Given the description of an element on the screen output the (x, y) to click on. 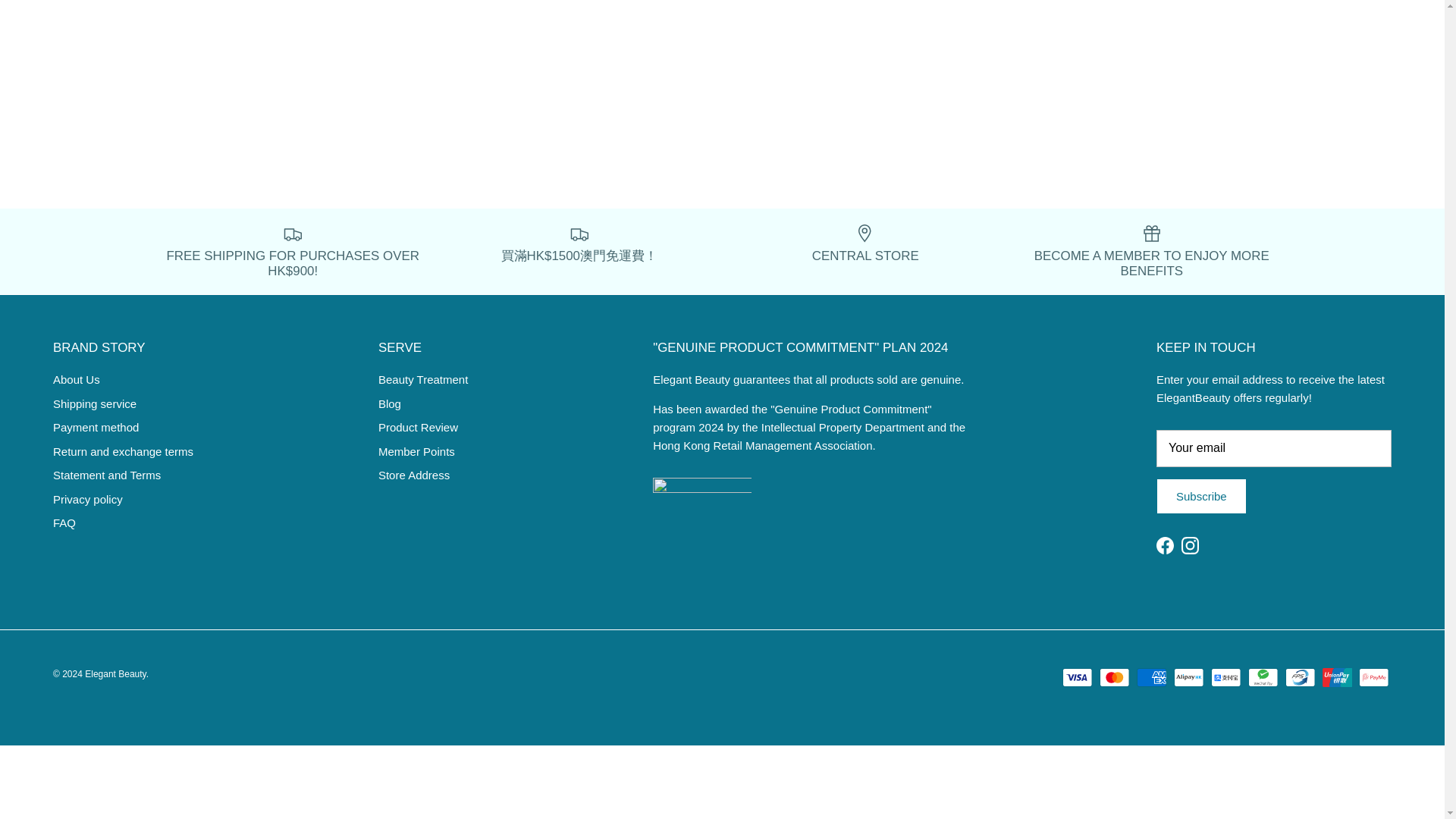
PayMe (1373, 677)
FPS (1299, 677)
Visa (1077, 677)
Elegant Beauty on Instagram (1189, 545)
Union Pay (1337, 677)
Mastercard (1114, 677)
Elegant Beauty on Facebook (1164, 545)
WeChat Pay (1262, 677)
American Express (1151, 677)
AliPay HK (1188, 677)
AliPay (1225, 677)
